Given the description of an element on the screen output the (x, y) to click on. 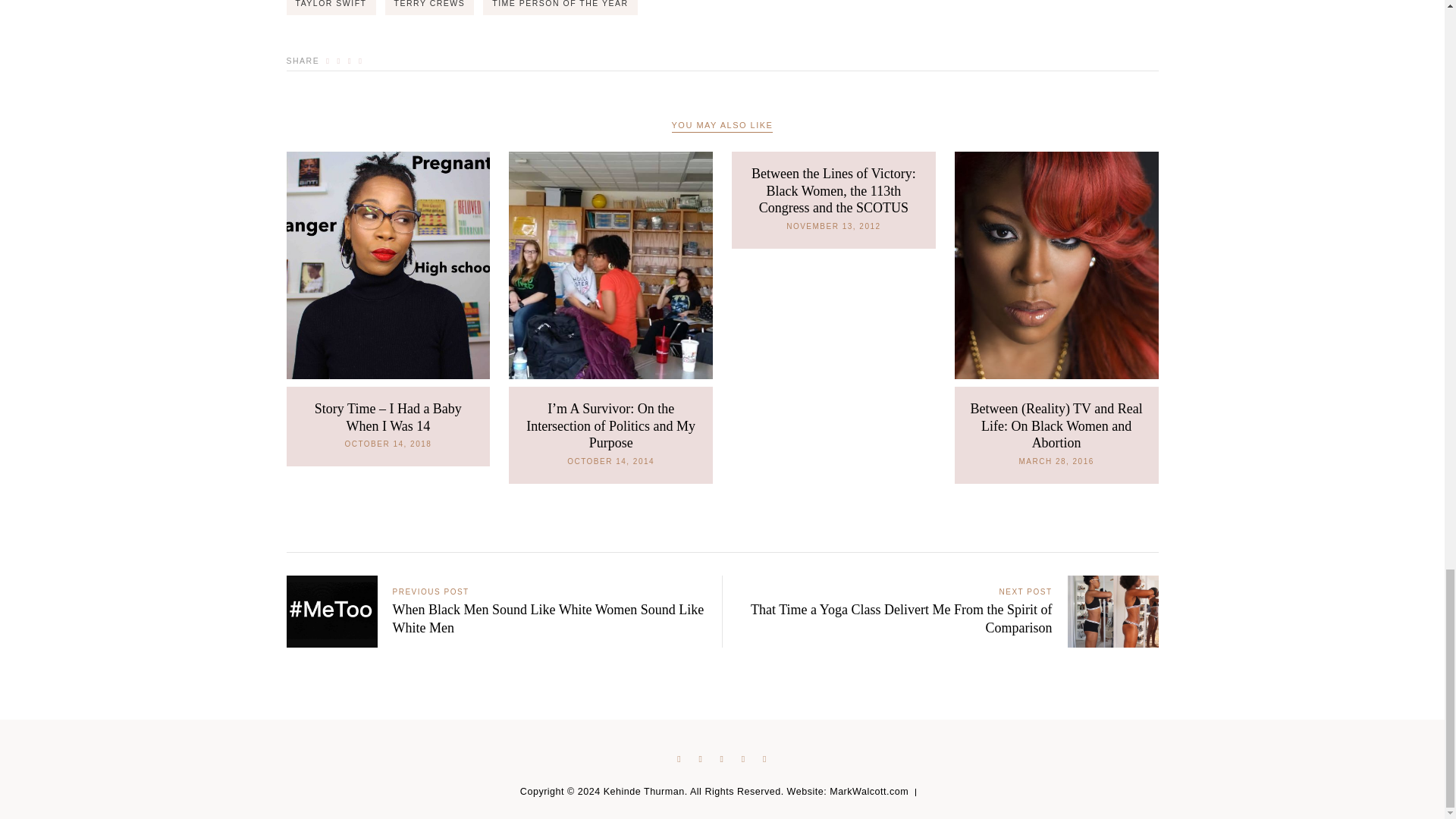
TIME PERSON OF THE YEAR (560, 7)
TAYLOR SWIFT (330, 7)
TERRY CREWS (429, 7)
